Given the description of an element on the screen output the (x, y) to click on. 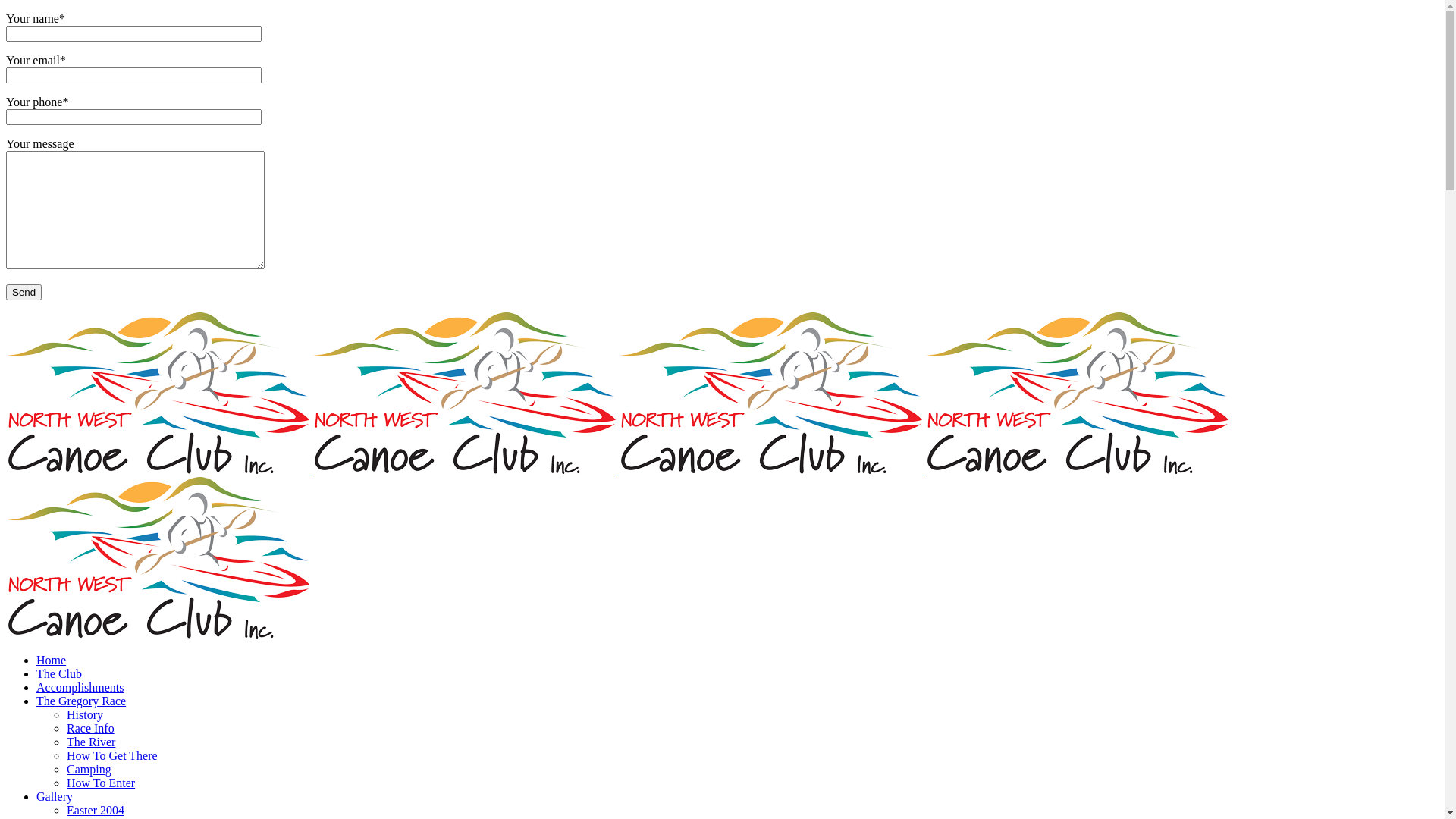
Accomplishments Element type: text (80, 686)
Easter 2004 Element type: text (95, 809)
How To Get There Element type: text (111, 755)
The Club Element type: text (58, 673)
Send Element type: text (23, 292)
Race Info Element type: text (90, 727)
Home Element type: text (50, 659)
The Gregory Race Element type: text (80, 700)
History Element type: text (84, 714)
Camping Element type: text (88, 768)
Gallery Element type: text (54, 796)
How To Enter Element type: text (100, 782)
The River Element type: text (90, 741)
